Given the description of an element on the screen output the (x, y) to click on. 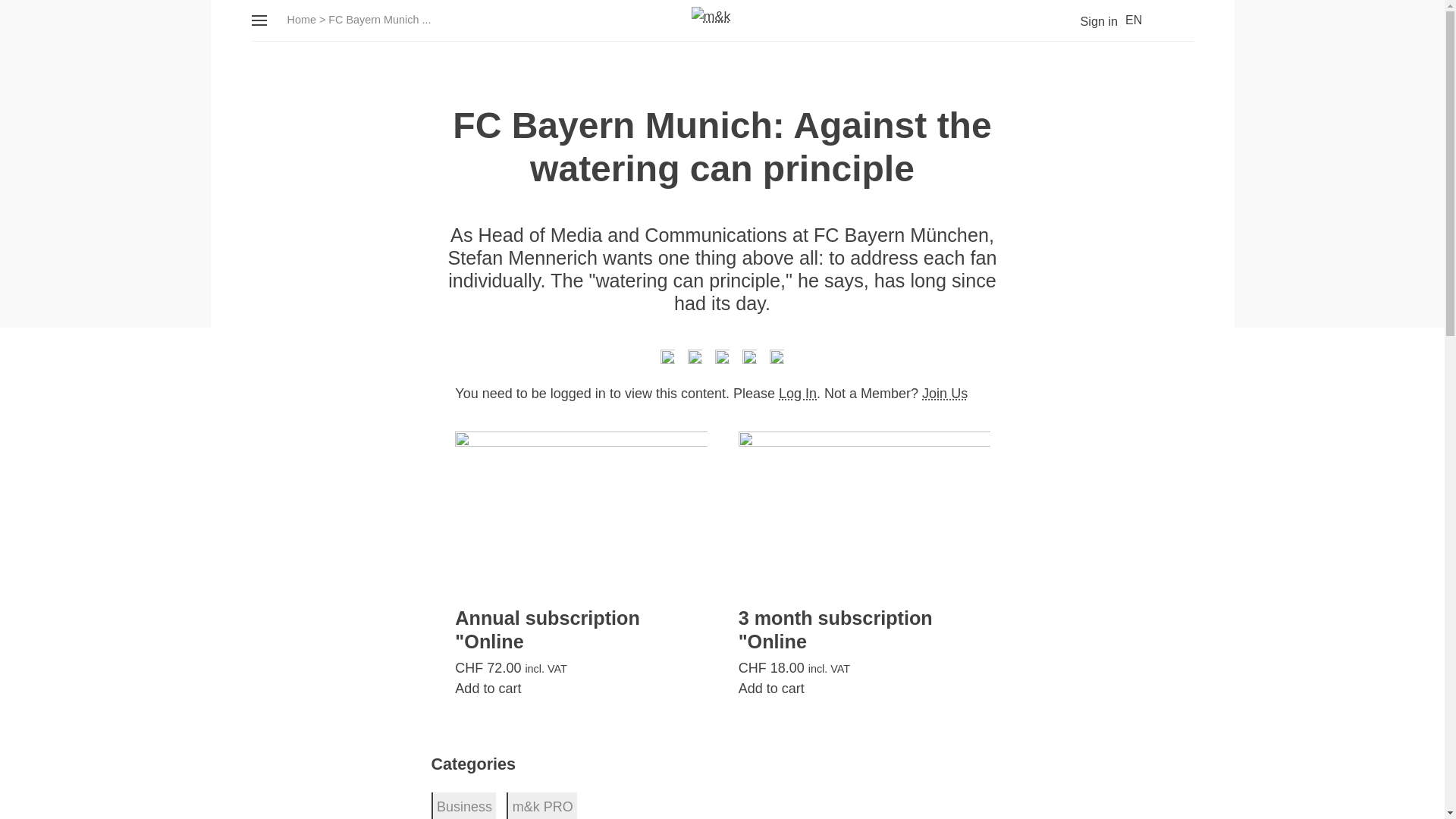
Sign in (1086, 21)
Join Us (944, 393)
Log In (797, 393)
Tweet this (667, 360)
Home (300, 20)
Share on Facebook (695, 360)
Share by Email (776, 360)
